Given the description of an element on the screen output the (x, y) to click on. 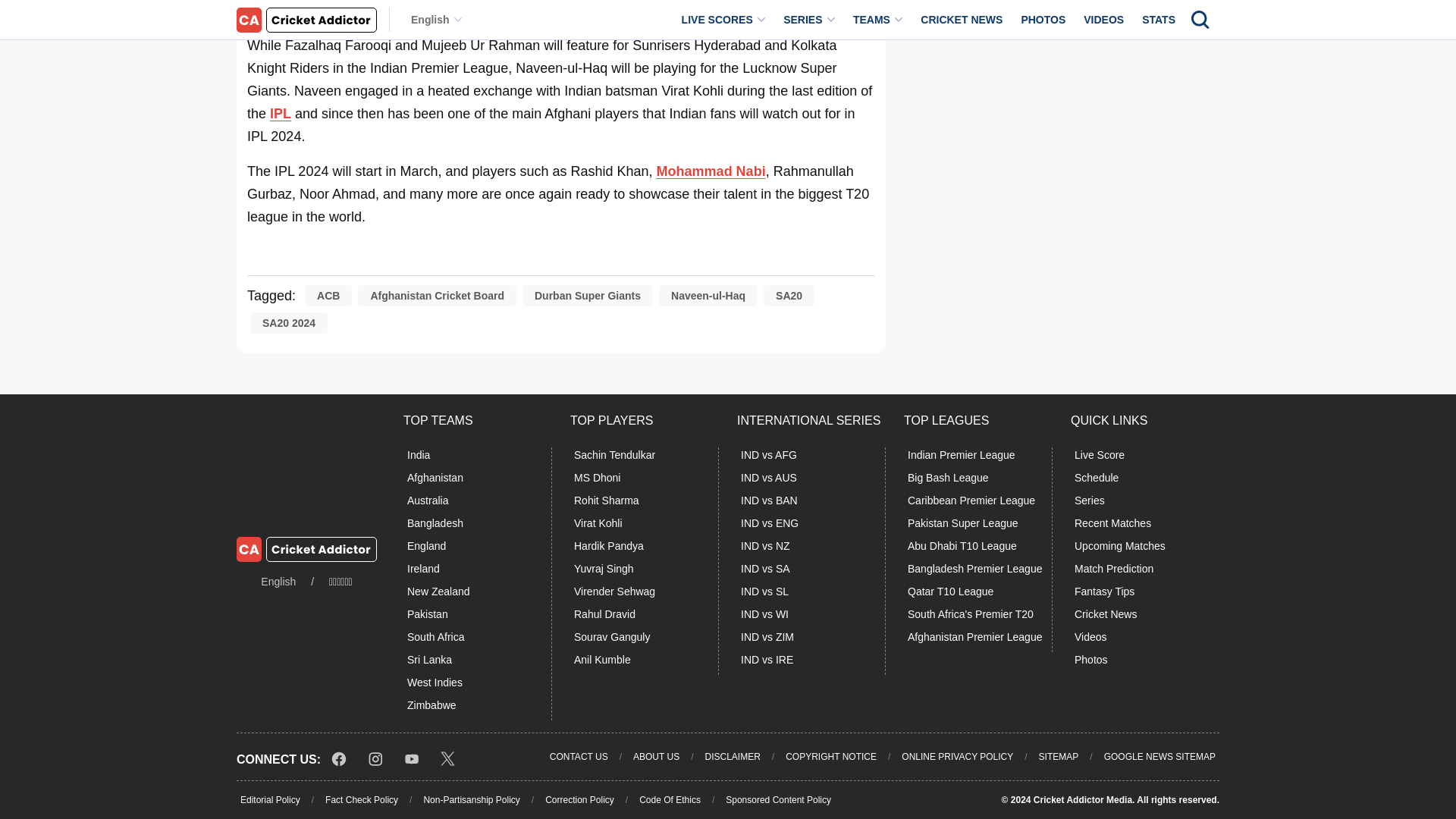
IPL (280, 113)
Mohammad Nabi (710, 171)
